Given the description of an element on the screen output the (x, y) to click on. 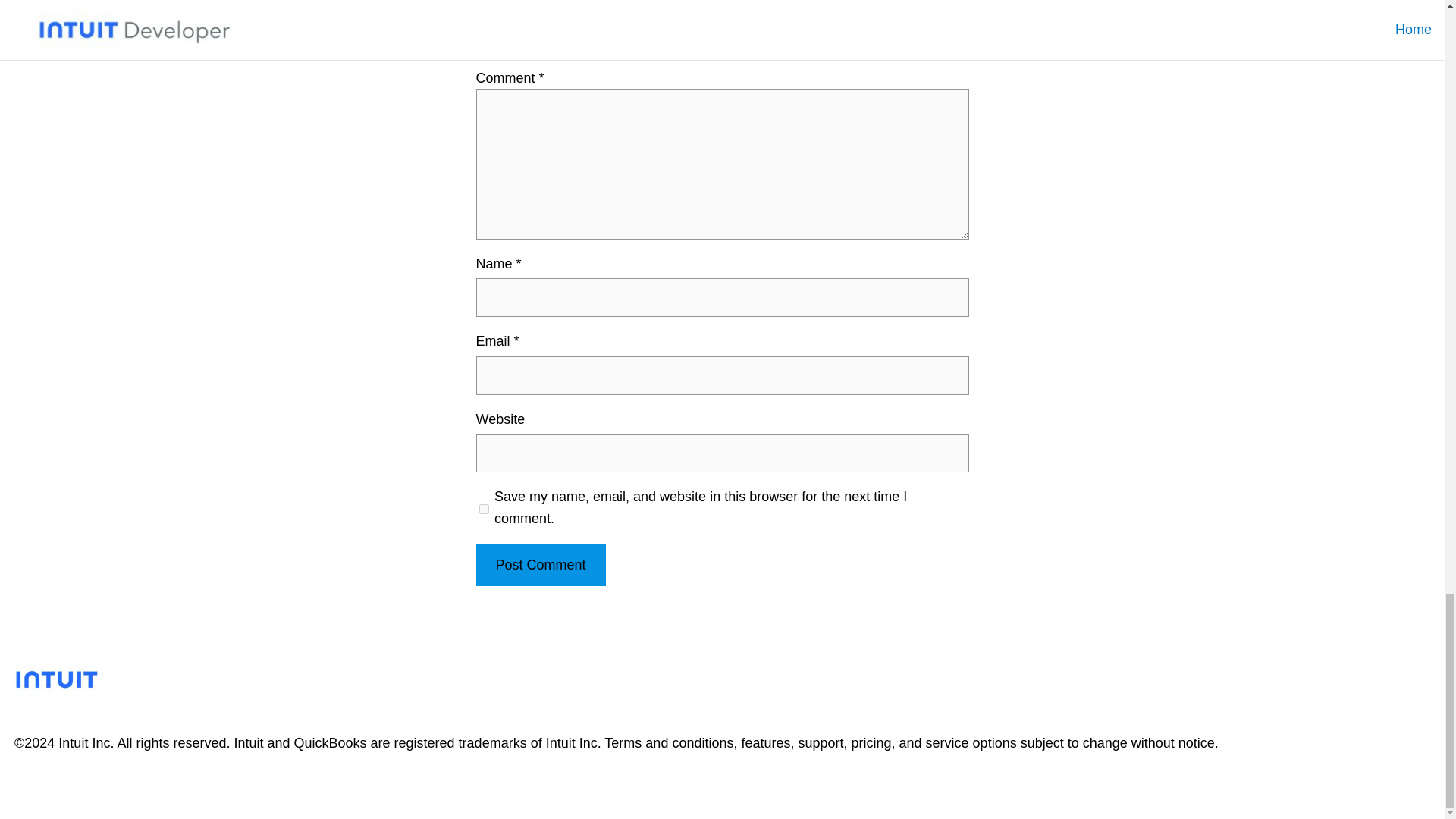
Post Comment (540, 565)
Post Comment (540, 565)
